Given the description of an element on the screen output the (x, y) to click on. 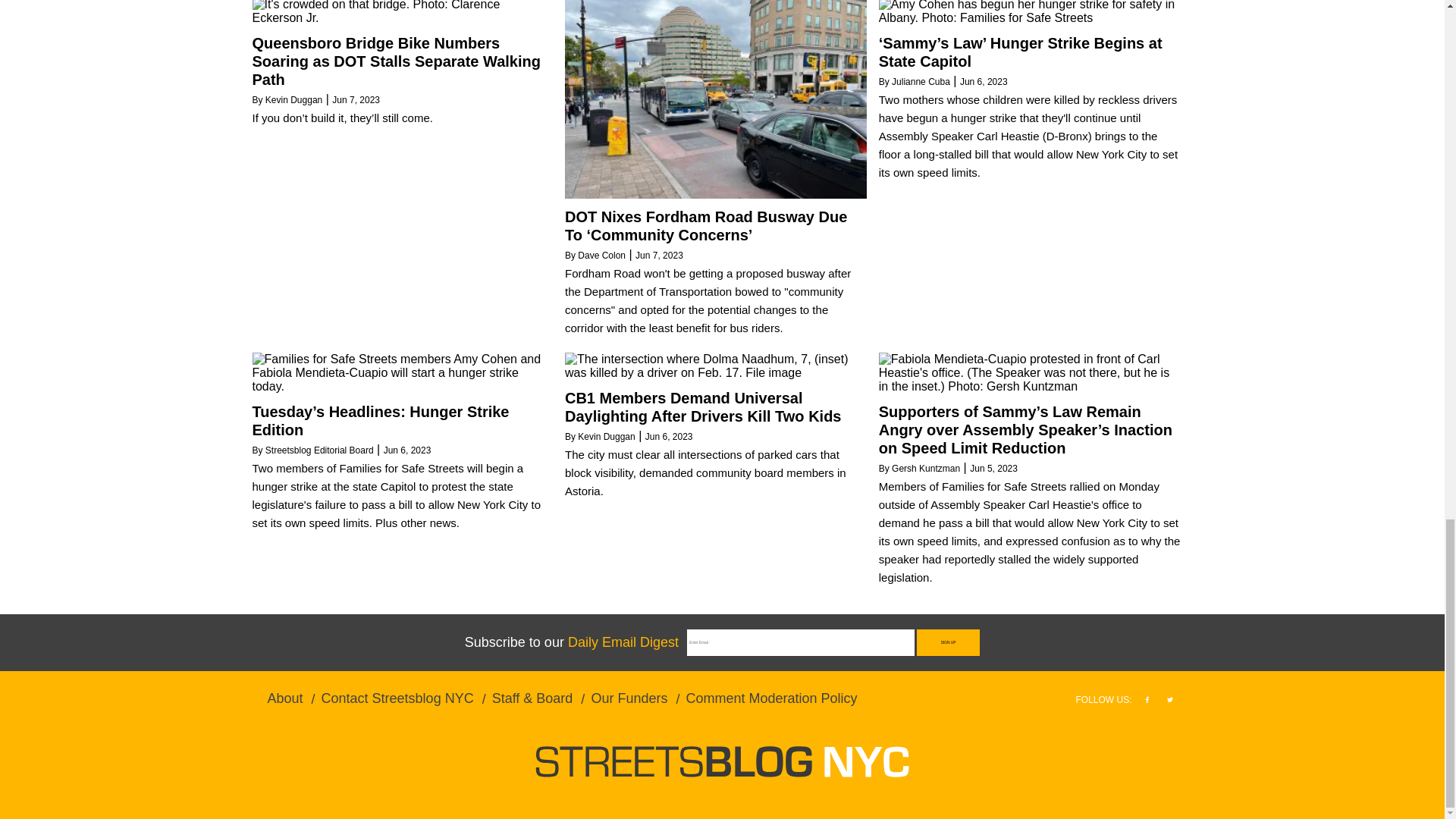
Streetsblog NYC Logo (721, 761)
